Given the description of an element on the screen output the (x, y) to click on. 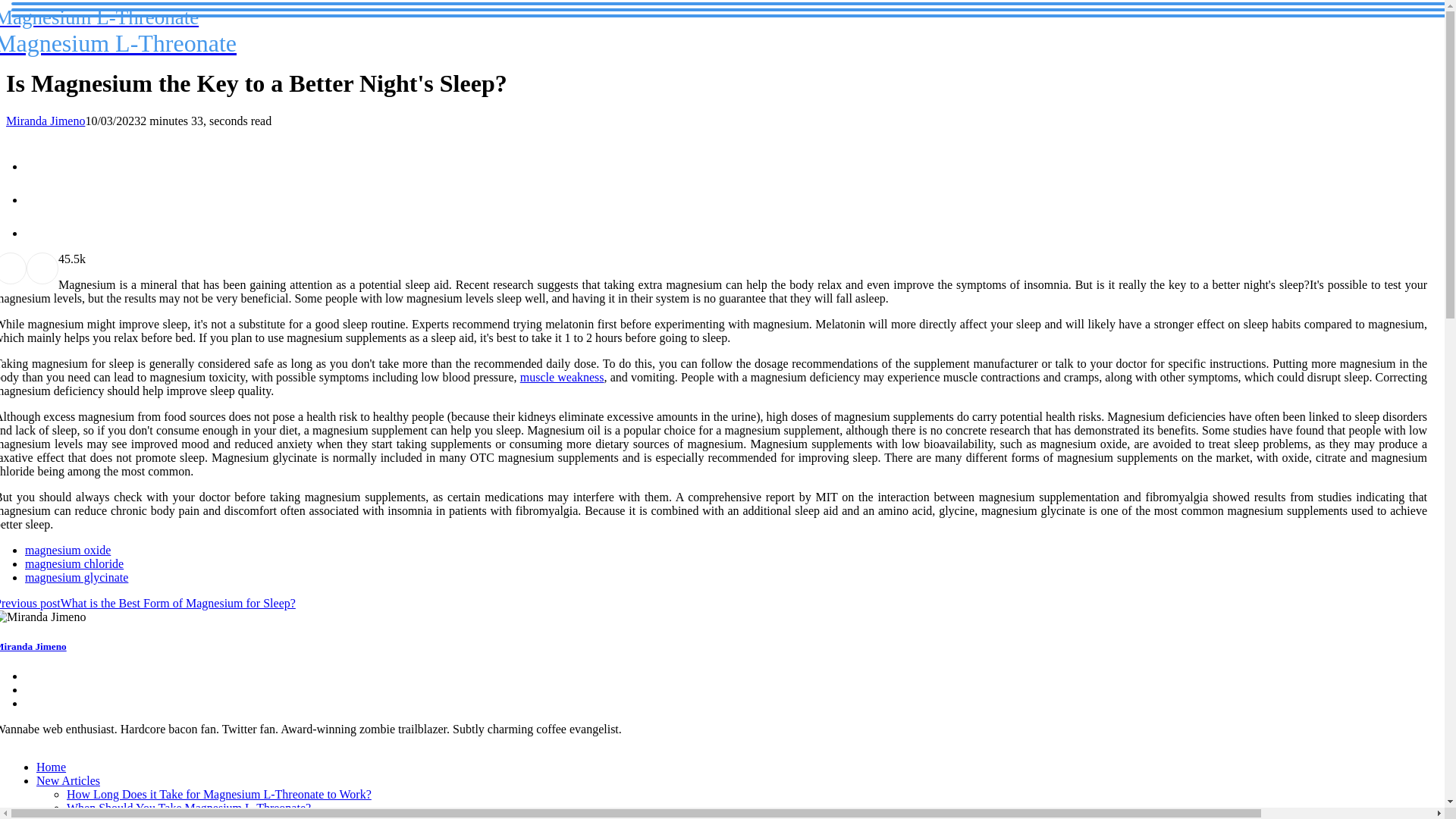
Posts by Miranda Jimeno (117, 31)
New Articles (44, 120)
Miranda Jimeno (68, 780)
muscle weakness (33, 645)
magnesium oxide (561, 377)
Previous postWhat is the Best Form of Magnesium for Sleep? (67, 549)
How Long Does it Take for Magnesium L-Threonate to Work? (147, 603)
When Should You Take Magnesium L-Threonate? (218, 793)
Home (188, 807)
magnesium chloride (50, 766)
Miranda Jimeno (73, 563)
magnesium glycinate (44, 120)
